Given the description of an element on the screen output the (x, y) to click on. 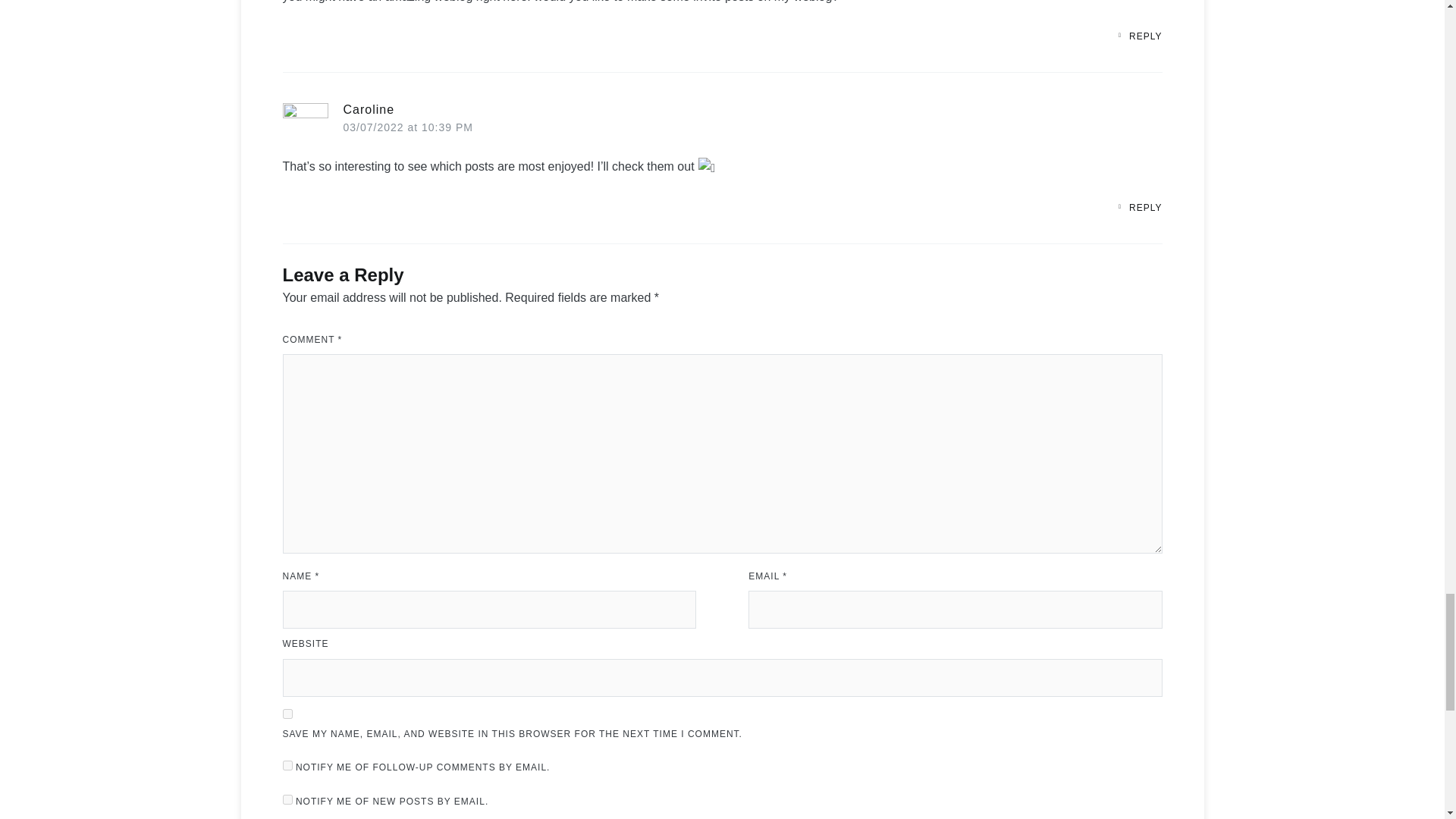
subscribe (287, 765)
yes (287, 714)
subscribe (287, 799)
